Given the description of an element on the screen output the (x, y) to click on. 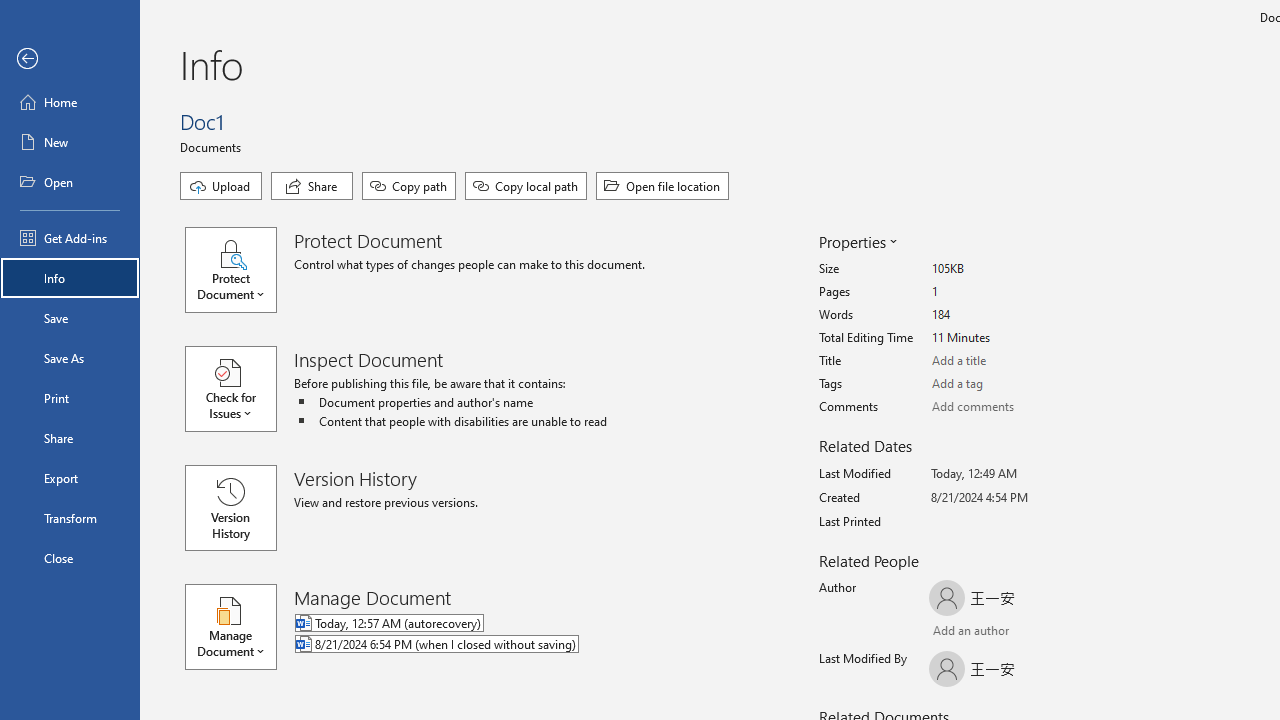
Documents (213, 146)
Verify Names (983, 632)
Transform (69, 517)
Total Editing Time (1006, 338)
Open file location (662, 186)
 Today, 12:57 AM (autorecovery) (518, 624)
Tags (1006, 384)
Version History (230, 507)
Protect Document (239, 269)
Copy local path (525, 186)
